Given the description of an element on the screen output the (x, y) to click on. 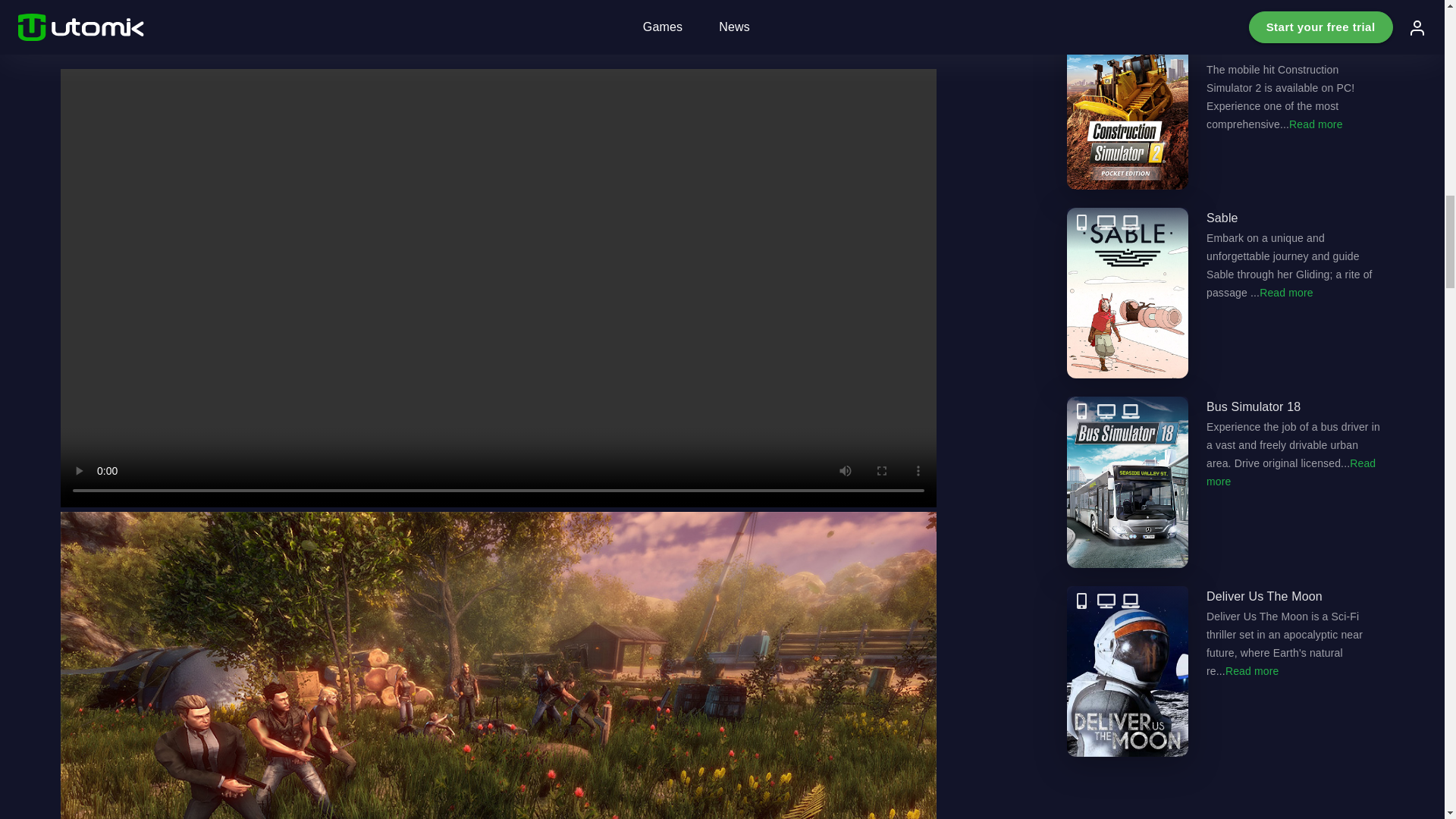
Read more (1291, 472)
Sable (1225, 293)
Read more (1286, 292)
Read more (1315, 123)
Construction Simulator 2 US - Pocket Edition (1225, 103)
Bus Simulator 18 (1225, 482)
